Given the description of an element on the screen output the (x, y) to click on. 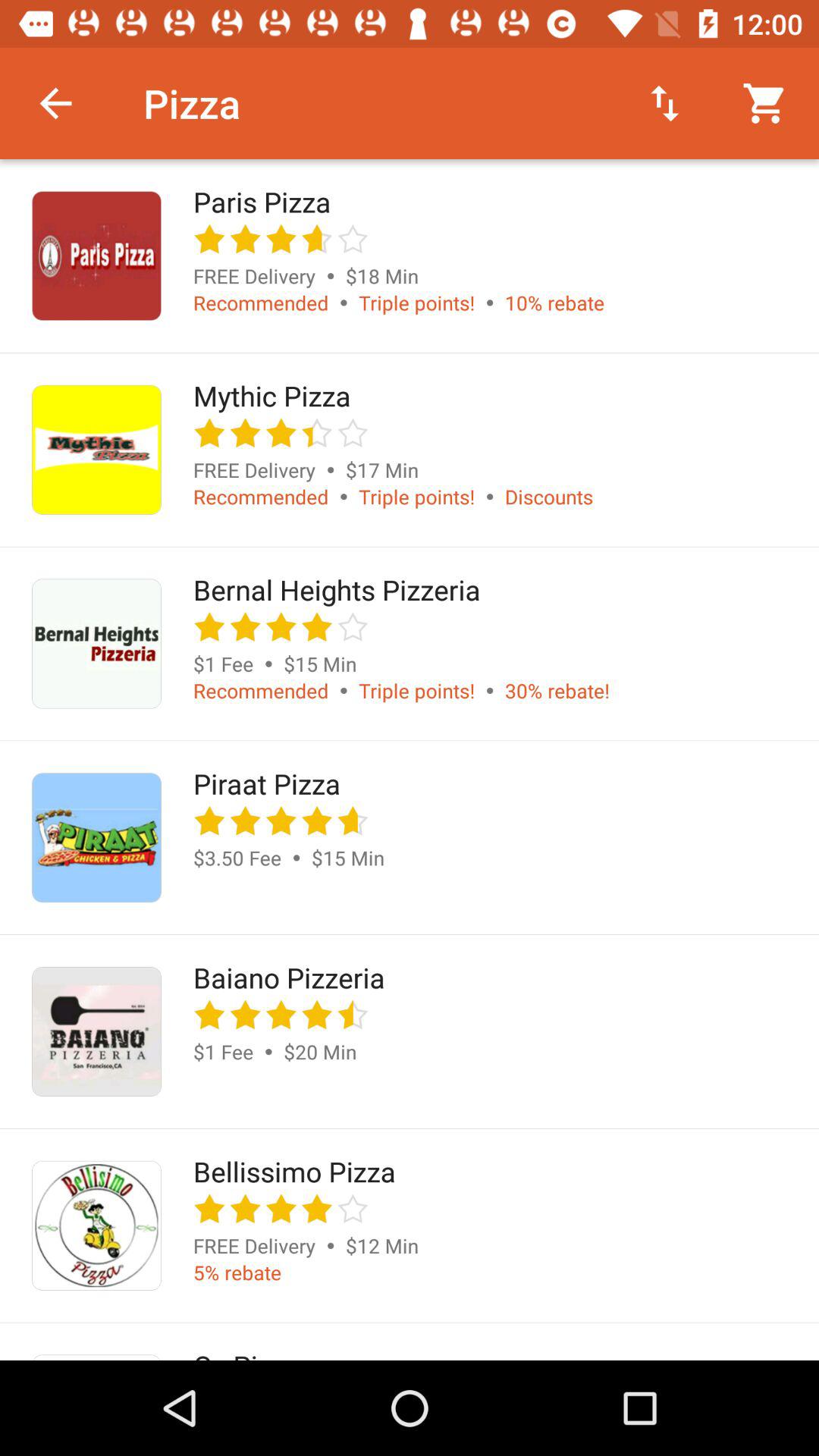
click on the logo paris pizza (96, 255)
